Given the description of an element on the screen output the (x, y) to click on. 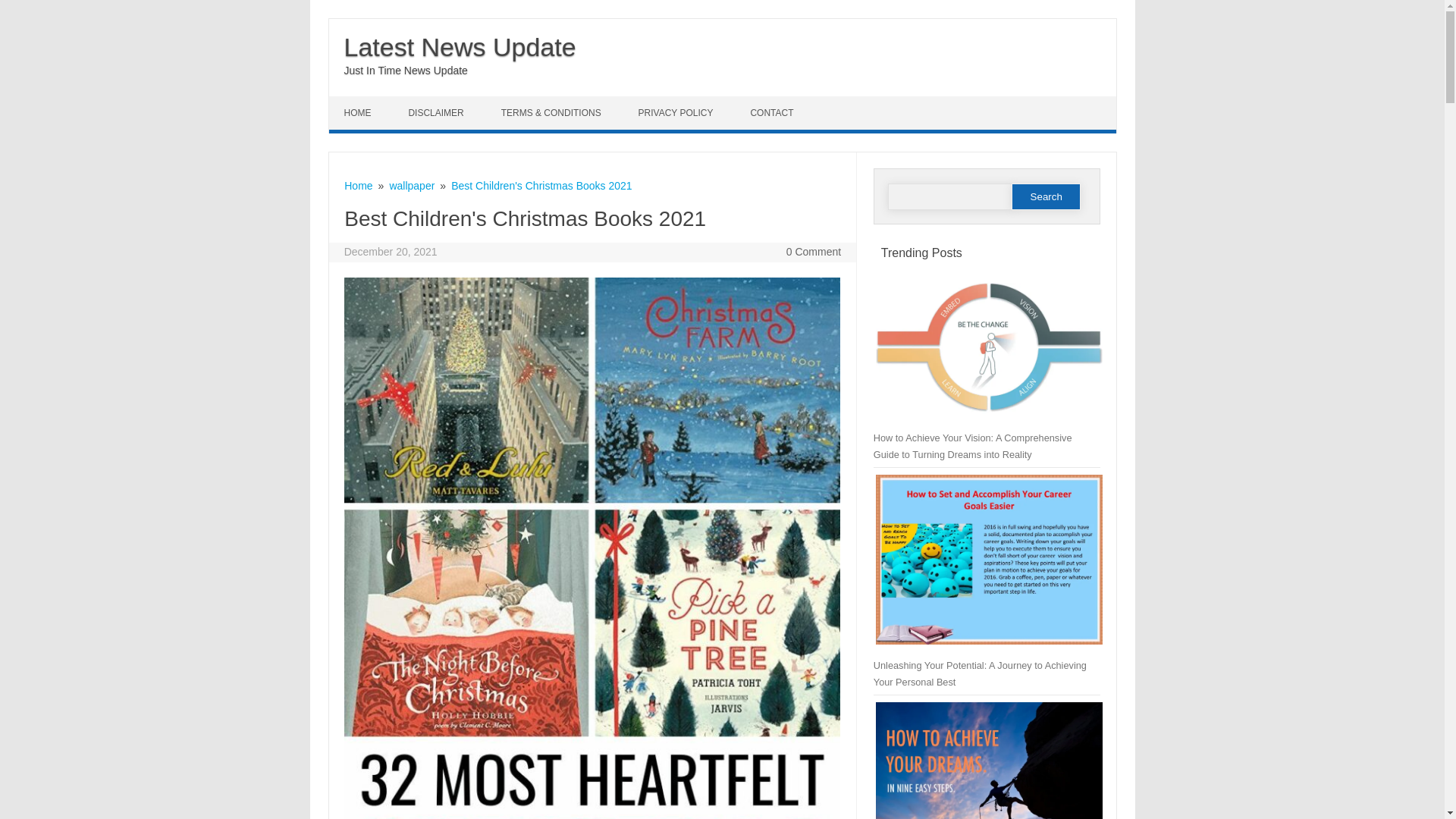
Skip to content (363, 101)
PRIVACY POLICY (677, 112)
Latest News Update (459, 46)
Best Children's Christmas Books 2021 (541, 185)
HOME (359, 112)
0 Comment (813, 251)
Search (1045, 196)
CONTACT (773, 112)
wallpaper (410, 185)
Home (357, 185)
DISCLAIMER (437, 112)
